Given the description of an element on the screen output the (x, y) to click on. 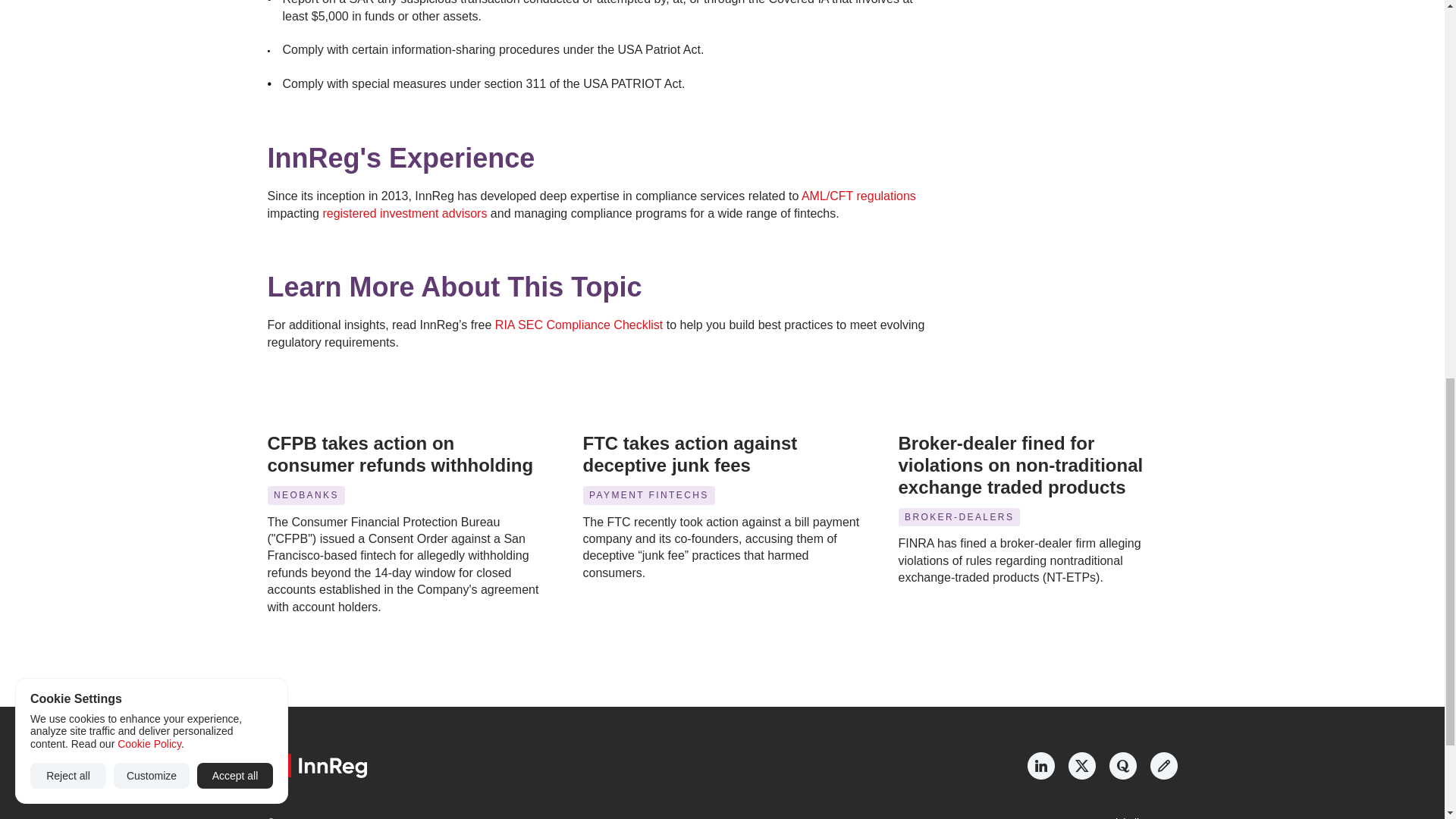
Cookie Settings (411, 817)
FTC takes action against deceptive junk fees (692, 454)
NEOBANKS (304, 495)
PAYMENT FINTECHS (648, 495)
CFPB takes action on consumer refunds withholding (399, 454)
BROKER-DEALERS (958, 517)
registered investment advisors (403, 212)
RIA SEC Compliance Checklist (578, 324)
